Given the description of an element on the screen output the (x, y) to click on. 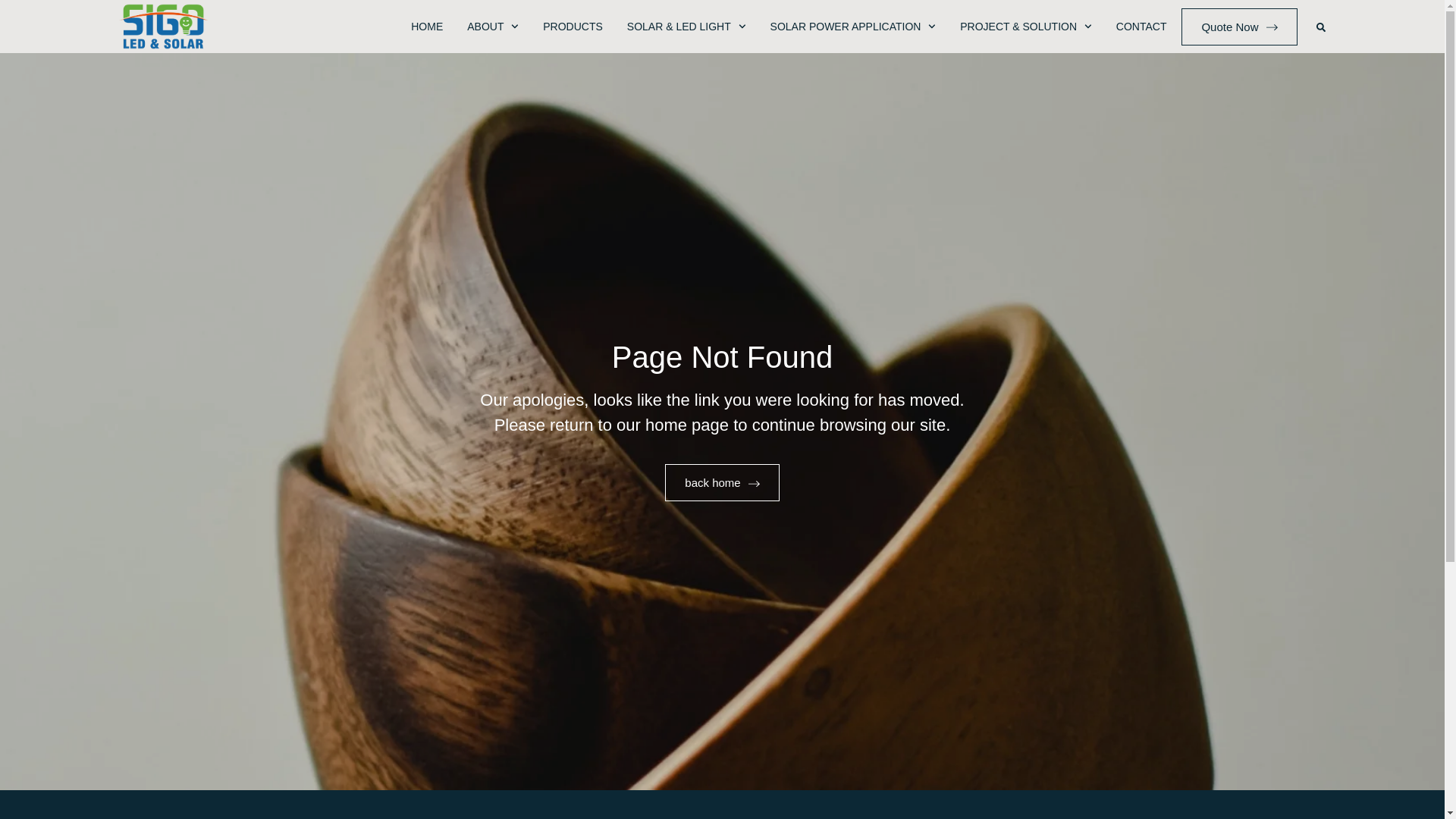
ABOUT (492, 26)
SOLAR POWER APPLICATION (853, 26)
PRODUCTS (572, 26)
CONTACT (1141, 26)
HOME (426, 26)
